Given the description of an element on the screen output the (x, y) to click on. 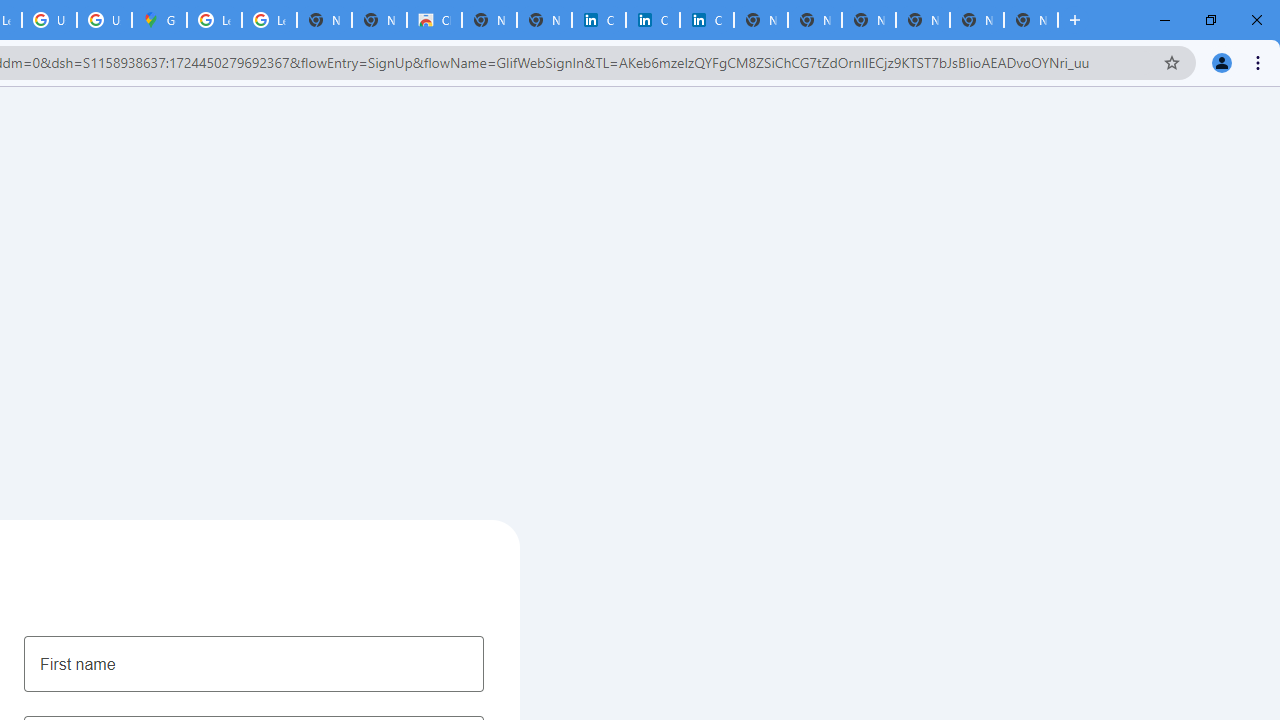
New Tab (1030, 20)
